Given the description of an element on the screen output the (x, y) to click on. 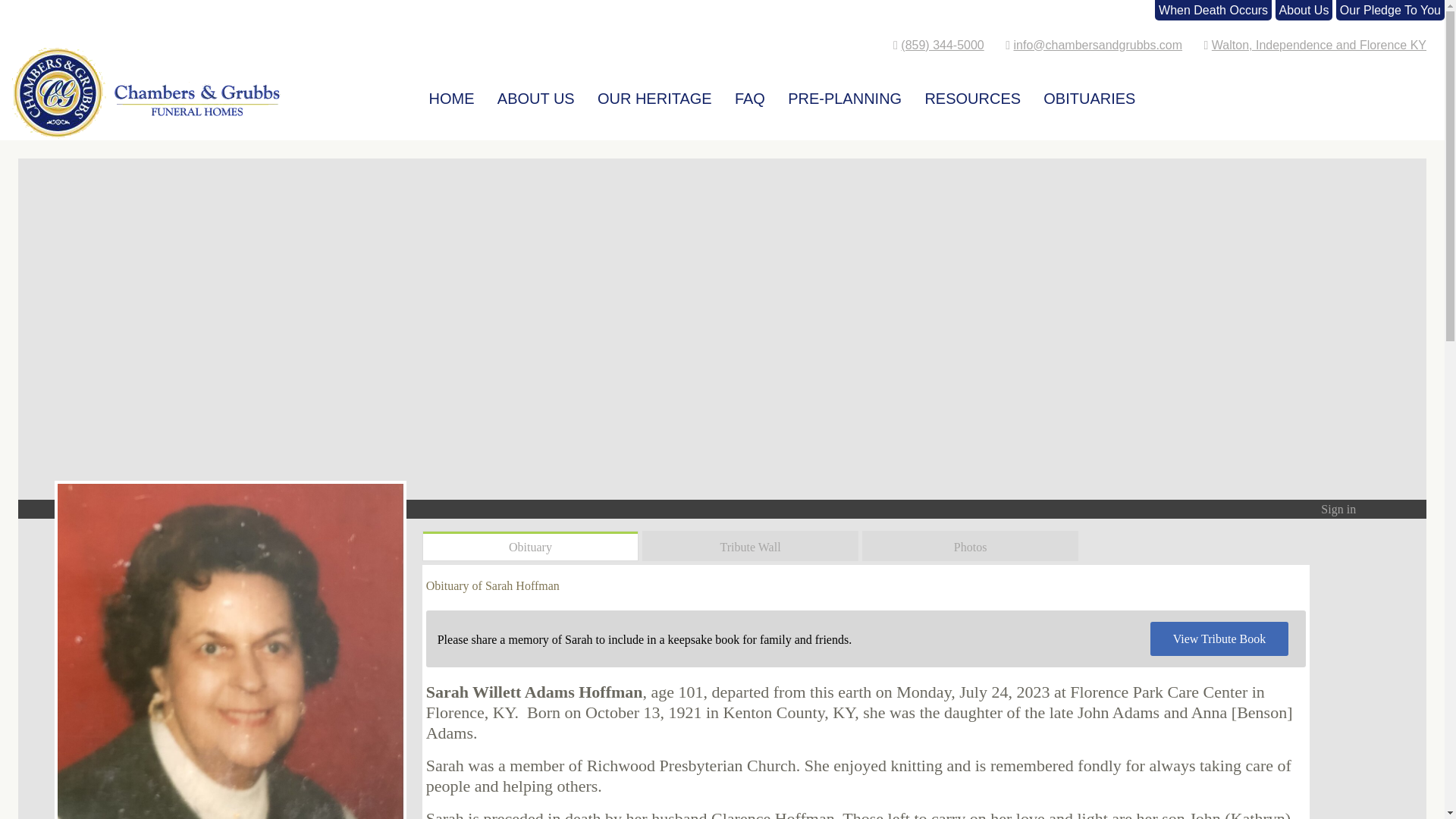
ABOUT US (535, 93)
PRE-PLANNING (844, 93)
About Us (1304, 10)
When Death Occurs (1213, 10)
FAQ (749, 93)
Our Pledge To You (1390, 10)
Sign in (1337, 508)
OUR HERITAGE (654, 93)
OBITUARIES (1088, 93)
RESOURCES (972, 93)
HOME (451, 93)
Walton, Independence and Florence KY (1318, 44)
